Given the description of an element on the screen output the (x, y) to click on. 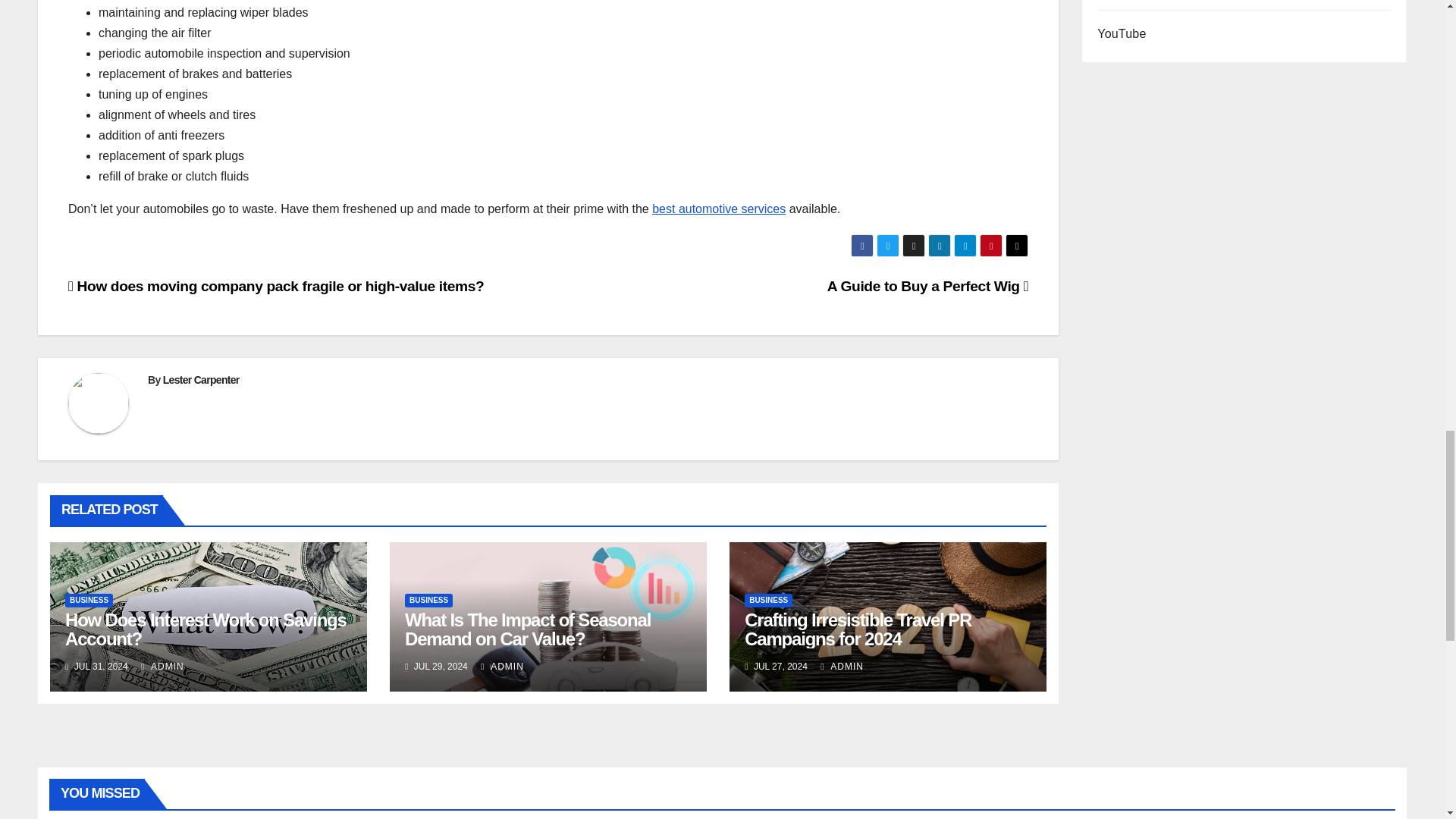
BUSINESS (89, 600)
Lester Carpenter (201, 379)
ADMIN (162, 665)
best automotive services (719, 208)
How Does Interest Work on Savings Account? (205, 629)
A Guide to Buy a Perfect Wig (927, 286)
How does moving company pack fragile or high-value items? (275, 286)
Permalink to: How Does Interest Work on Savings Account? (205, 629)
